Given the description of an element on the screen output the (x, y) to click on. 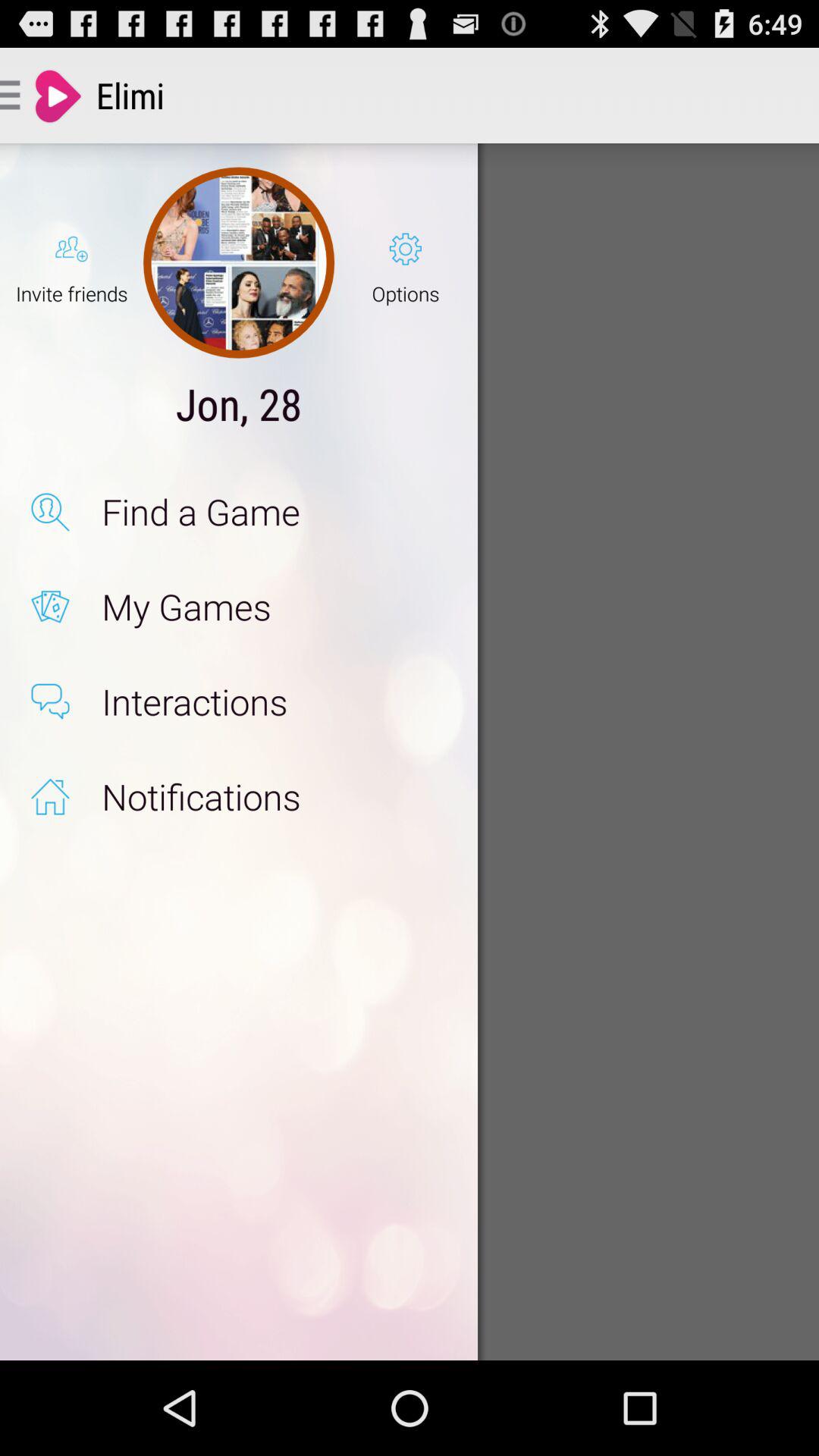
swipe until options (405, 262)
